Given the description of an element on the screen output the (x, y) to click on. 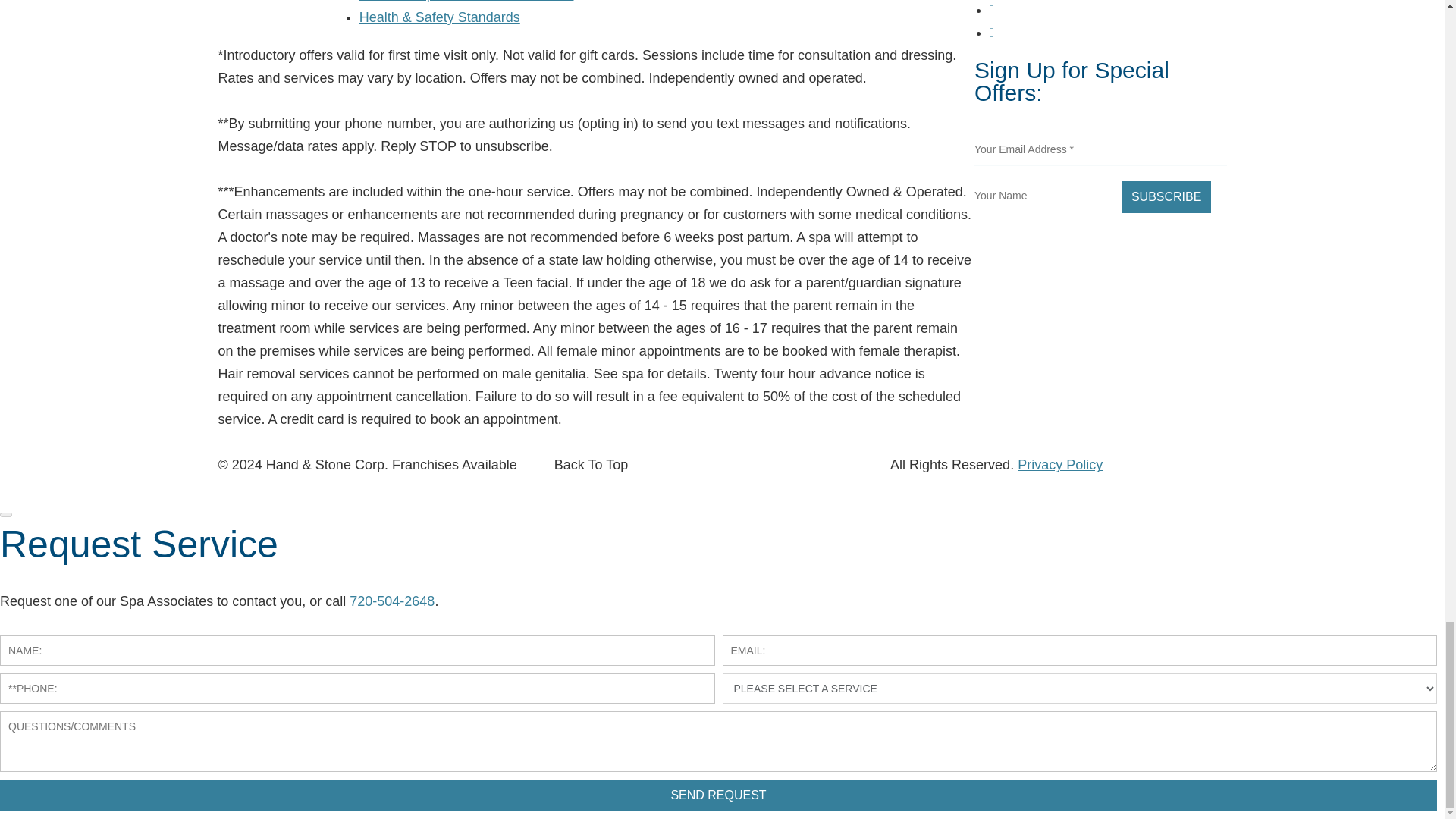
Back To Top (590, 464)
Subscribe (1166, 196)
